Given the description of an element on the screen output the (x, y) to click on. 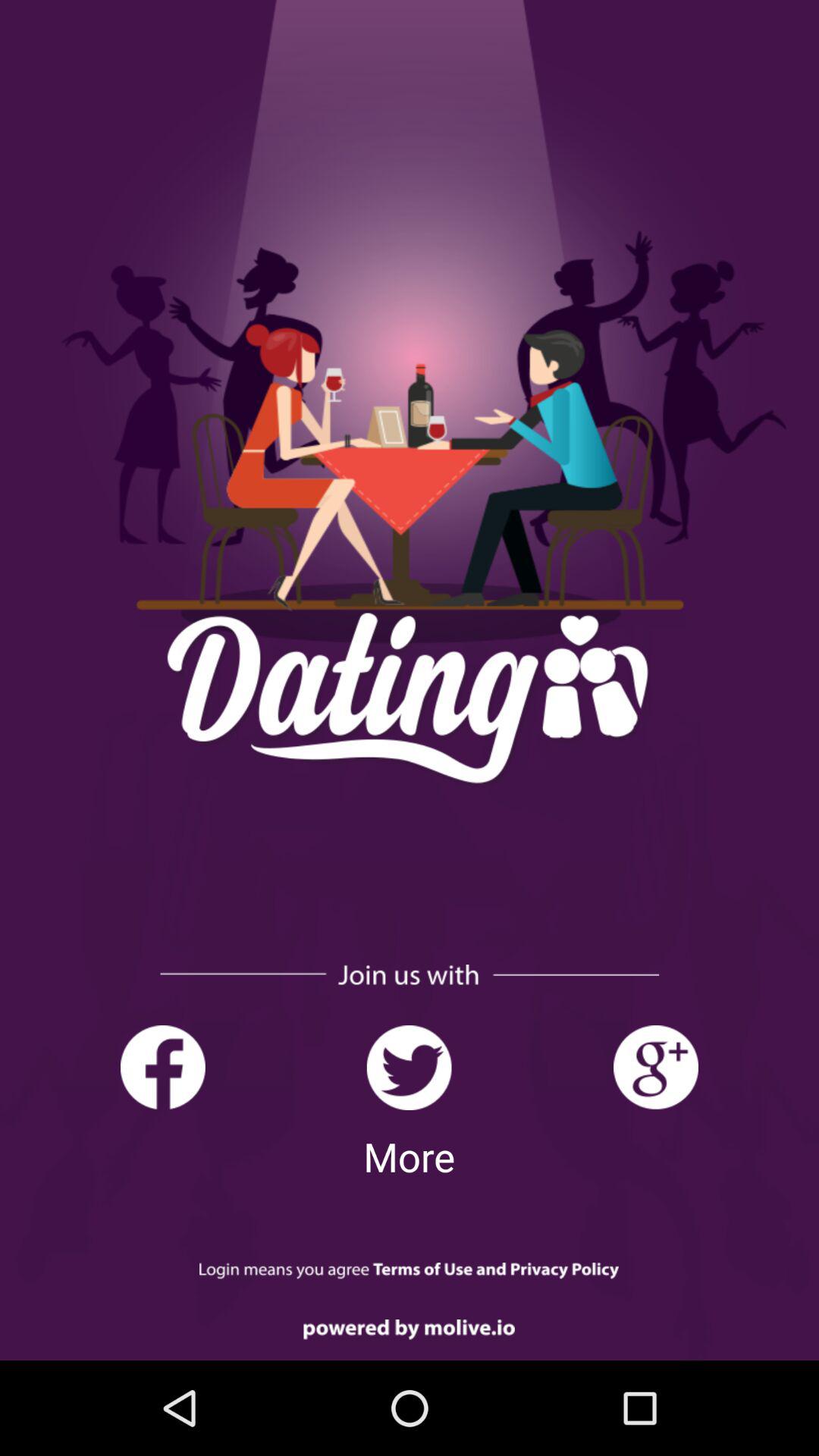
join us with facebook (162, 1067)
